Given the description of an element on the screen output the (x, y) to click on. 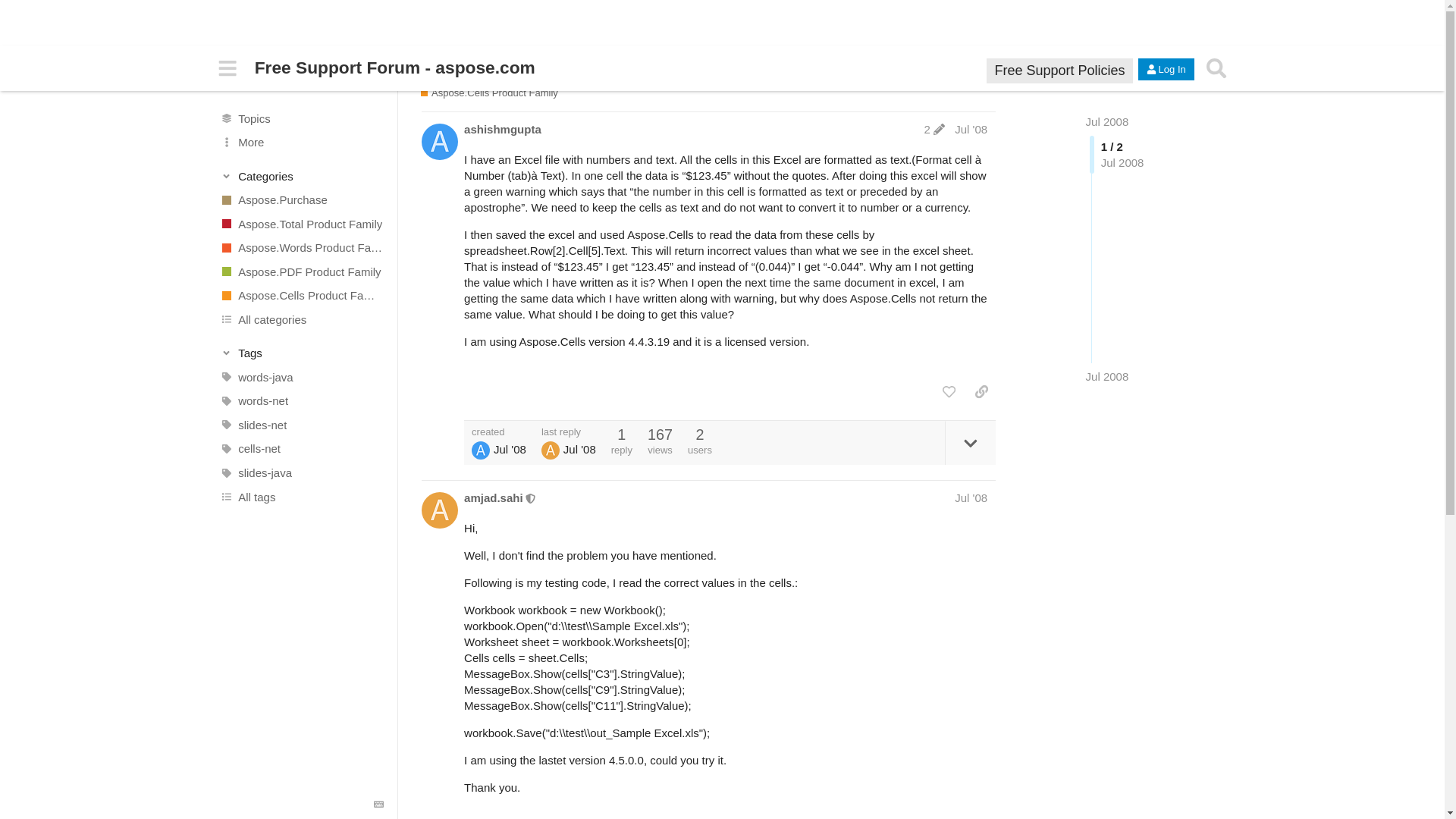
Categories (301, 175)
Toggle section (301, 353)
Jul 2008 (1107, 121)
2 (934, 128)
Aspose.Cells Product Family (301, 295)
Search (1215, 68)
cells-net (301, 448)
Keyboard Shortcuts (378, 805)
Aspose.Cells Product Family (488, 92)
Topics (301, 118)
last reply (568, 431)
Free Support Policies (1059, 70)
All tags (301, 496)
More (301, 142)
Jul 2008 (1107, 121)
